Given the description of an element on the screen output the (x, y) to click on. 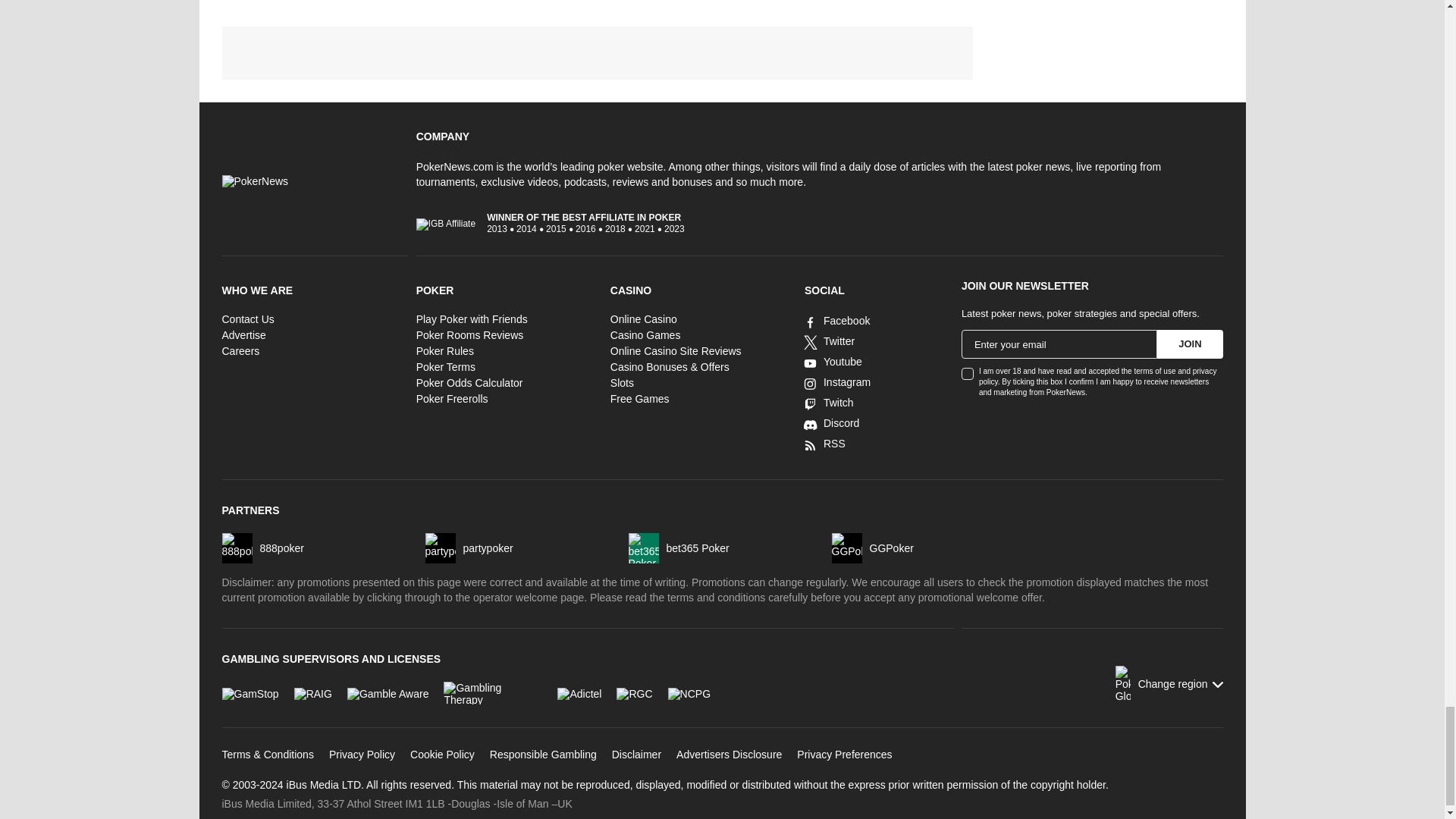
GamStop (249, 692)
National Council on Problem Gambling (689, 692)
on (967, 373)
GambleAware (388, 692)
Responsible Gambling Council (633, 692)
Adictel (579, 692)
Raig (312, 692)
Gambling Therapy (492, 692)
